Given the description of an element on the screen output the (x, y) to click on. 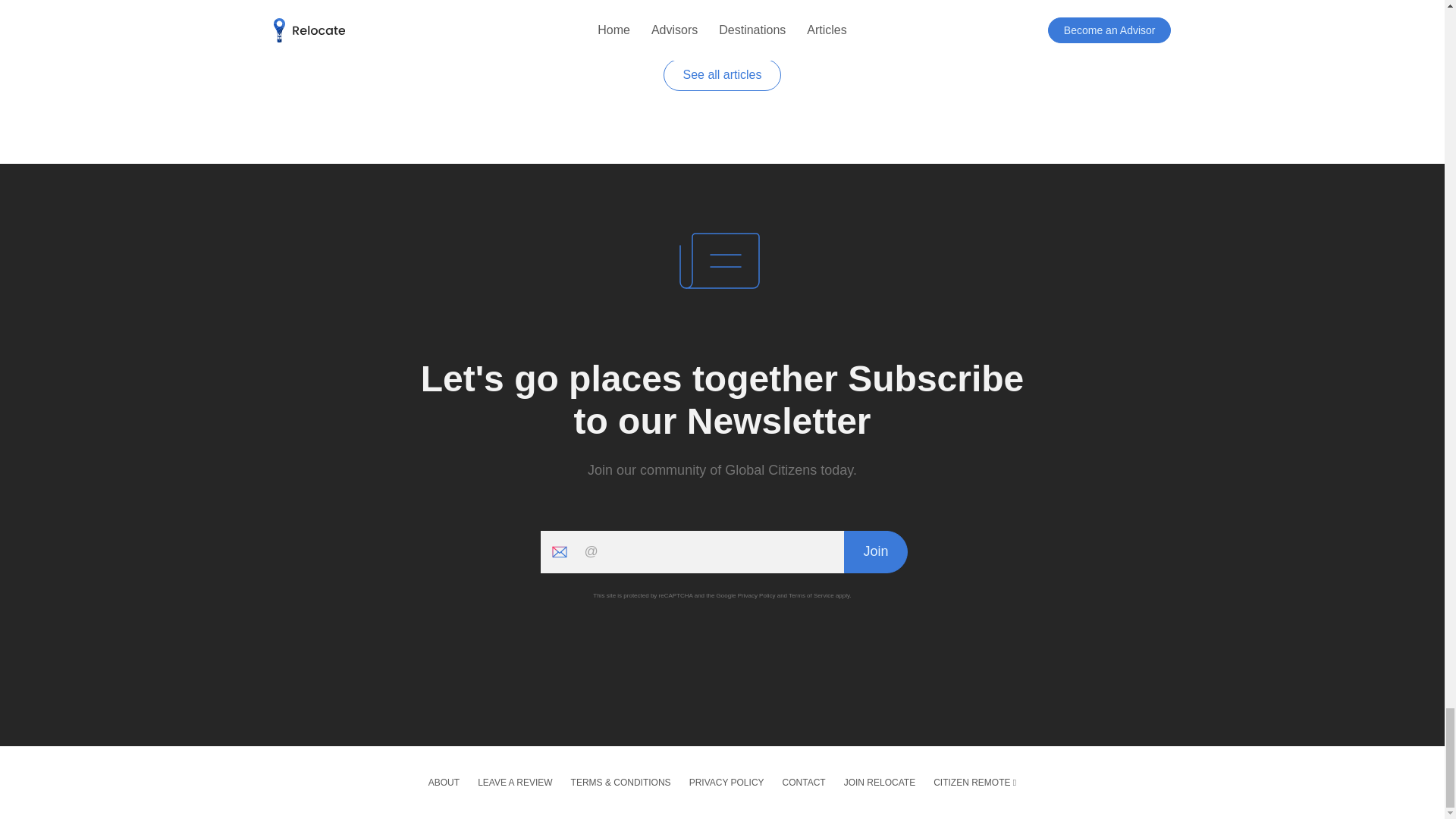
Join (875, 550)
CONTACT (804, 781)
ABOUT (444, 781)
Privacy Policy (757, 595)
JOIN RELOCATE (879, 781)
See all articles (721, 74)
LEAVE A REVIEW (514, 781)
Terms of Service (811, 595)
PRIVACY POLICY (726, 781)
